Given the description of an element on the screen output the (x, y) to click on. 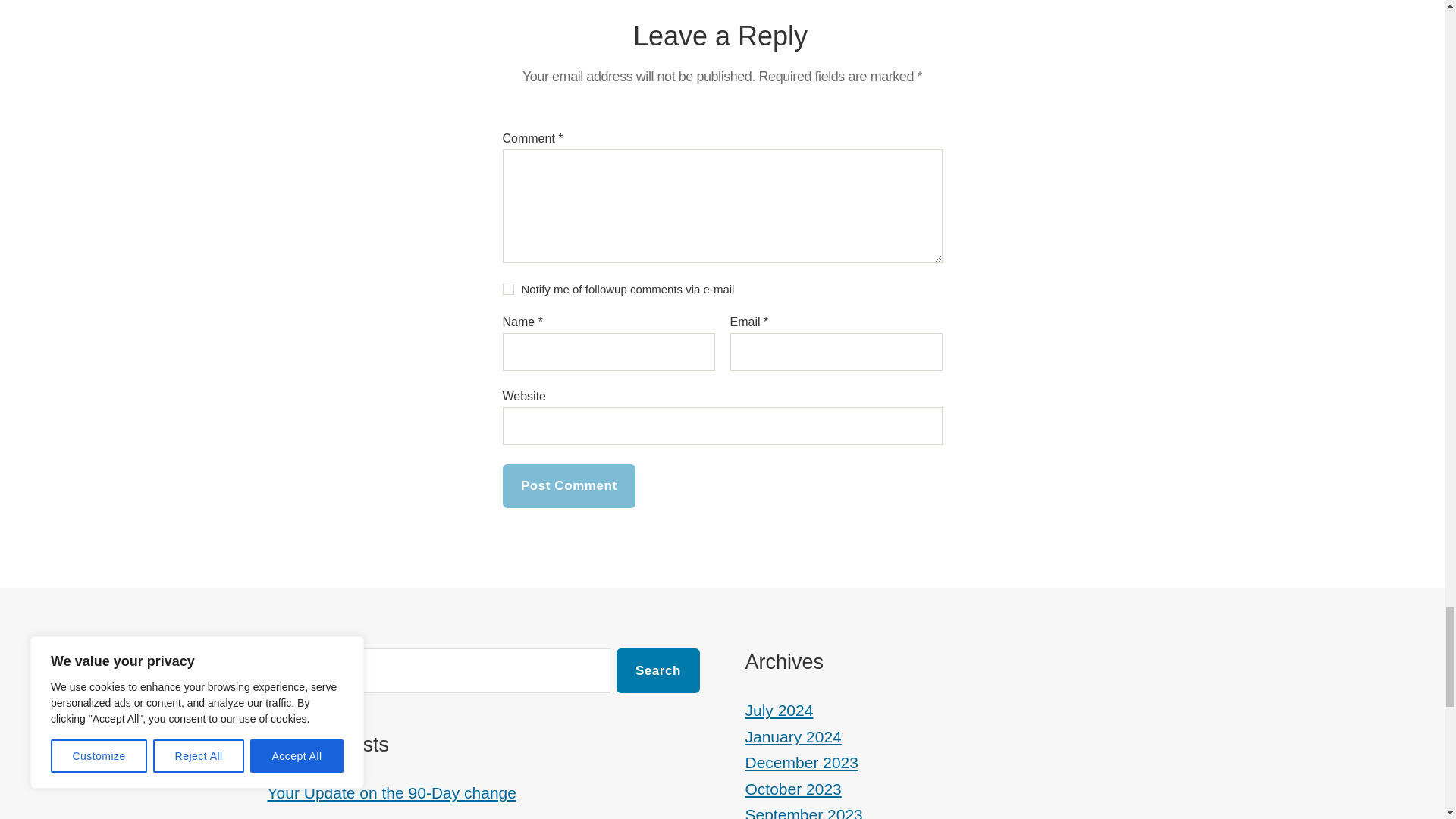
subscribe (507, 288)
Post Comment (568, 486)
Search (656, 670)
Search (656, 670)
